Given the description of an element on the screen output the (x, y) to click on. 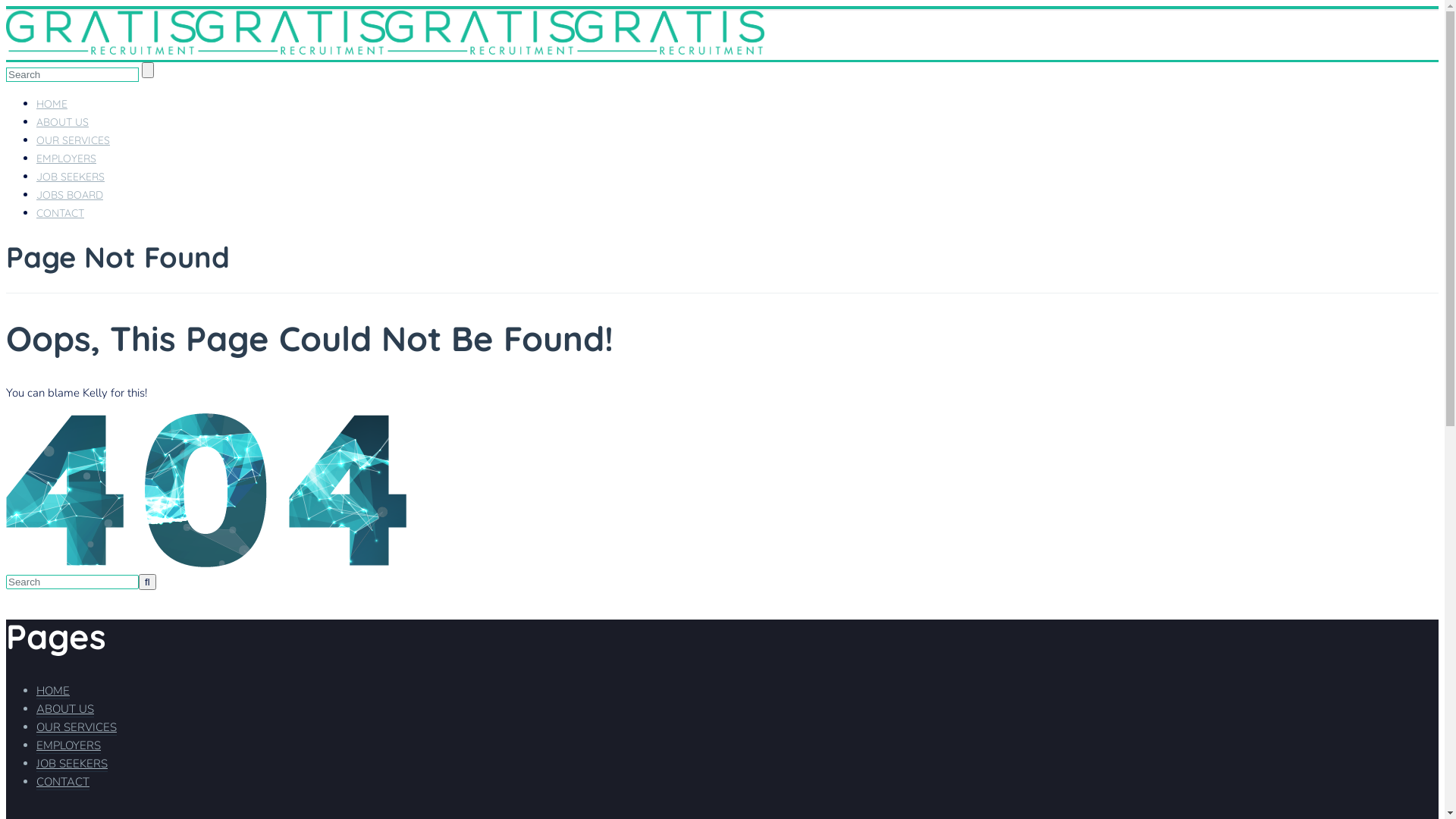
ABOUT US Element type: text (65, 709)
JOBS BOARD Element type: text (69, 194)
CONTACT Element type: text (60, 212)
Gratis Recruitment Element type: hover (100, 32)
OUR SERVICES Element type: text (76, 727)
JOB SEEKERS Element type: text (70, 176)
Gratis Recruitment Element type: hover (290, 32)
EMPLOYERS Element type: text (66, 158)
HOME Element type: text (51, 103)
ABOUT US Element type: text (62, 121)
JOB SEEKERS Element type: text (71, 763)
OUR SERVICES Element type: text (72, 140)
Gratis Recruitment Element type: hover (479, 32)
CONTACT Element type: text (62, 782)
EMPLOYERS Element type: text (68, 745)
HOME Element type: text (52, 691)
Gratis Recruitment Element type: hover (669, 32)
